Given the description of an element on the screen output the (x, y) to click on. 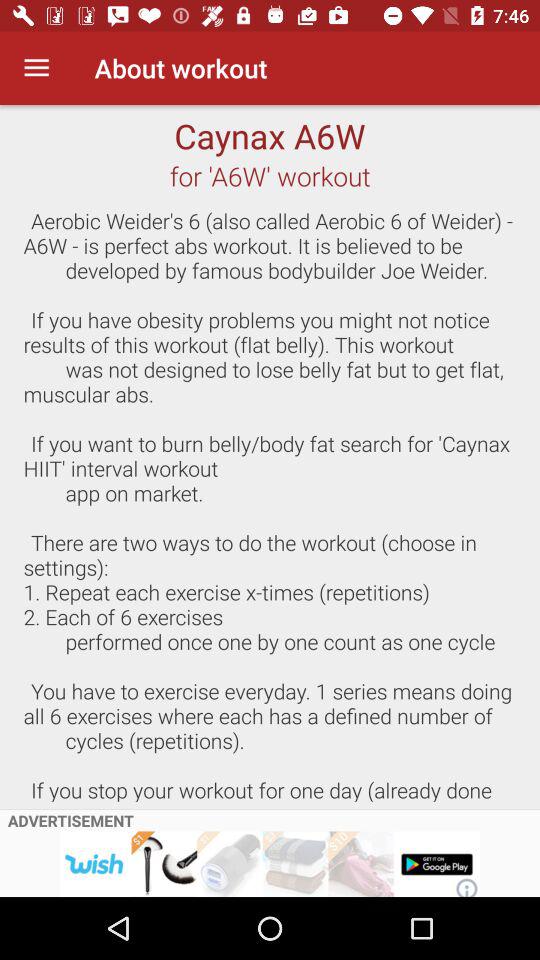
know about the advertisement (270, 864)
